Given the description of an element on the screen output the (x, y) to click on. 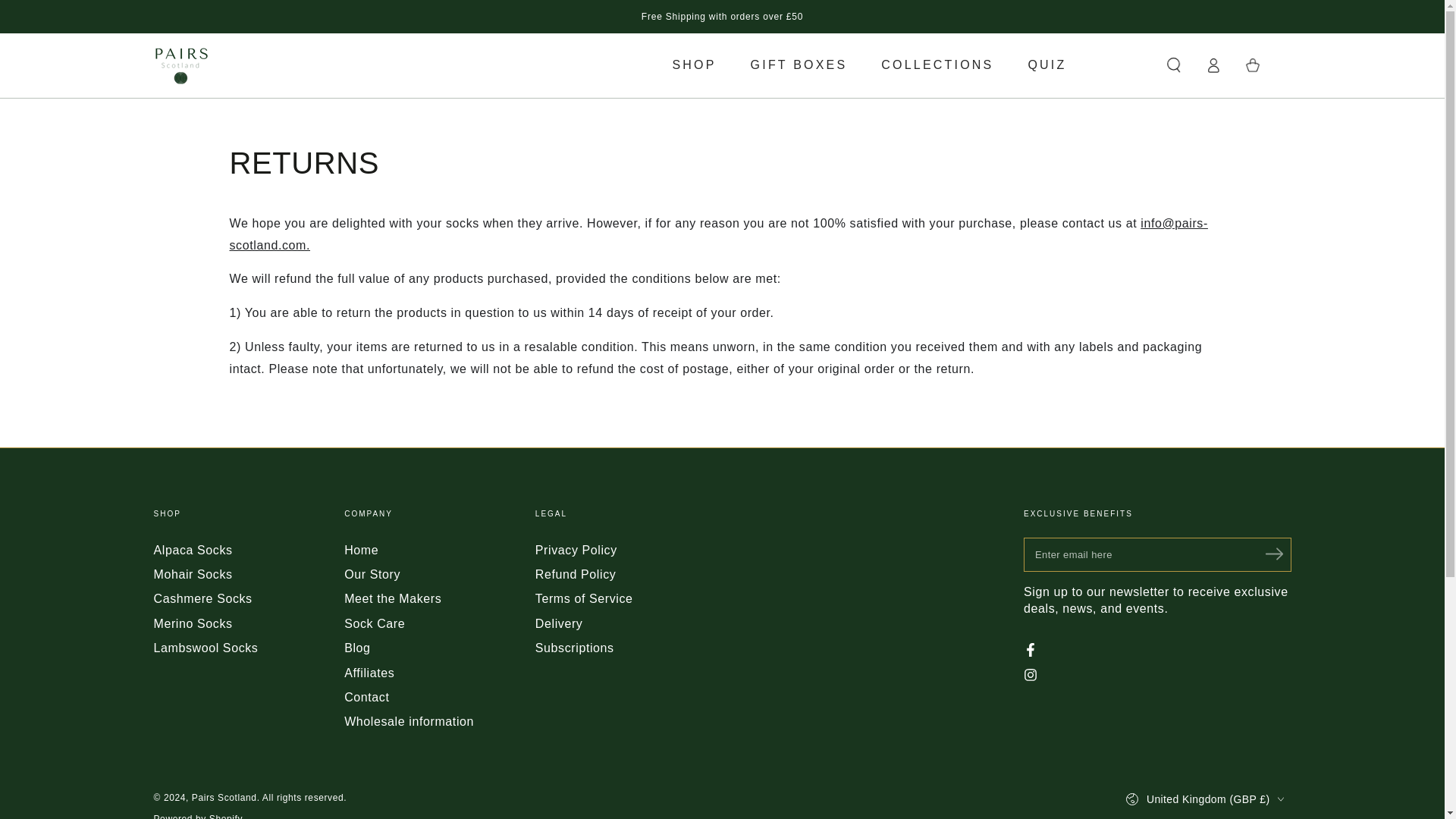
SKIP TO CONTENT (67, 14)
